Given the description of an element on the screen output the (x, y) to click on. 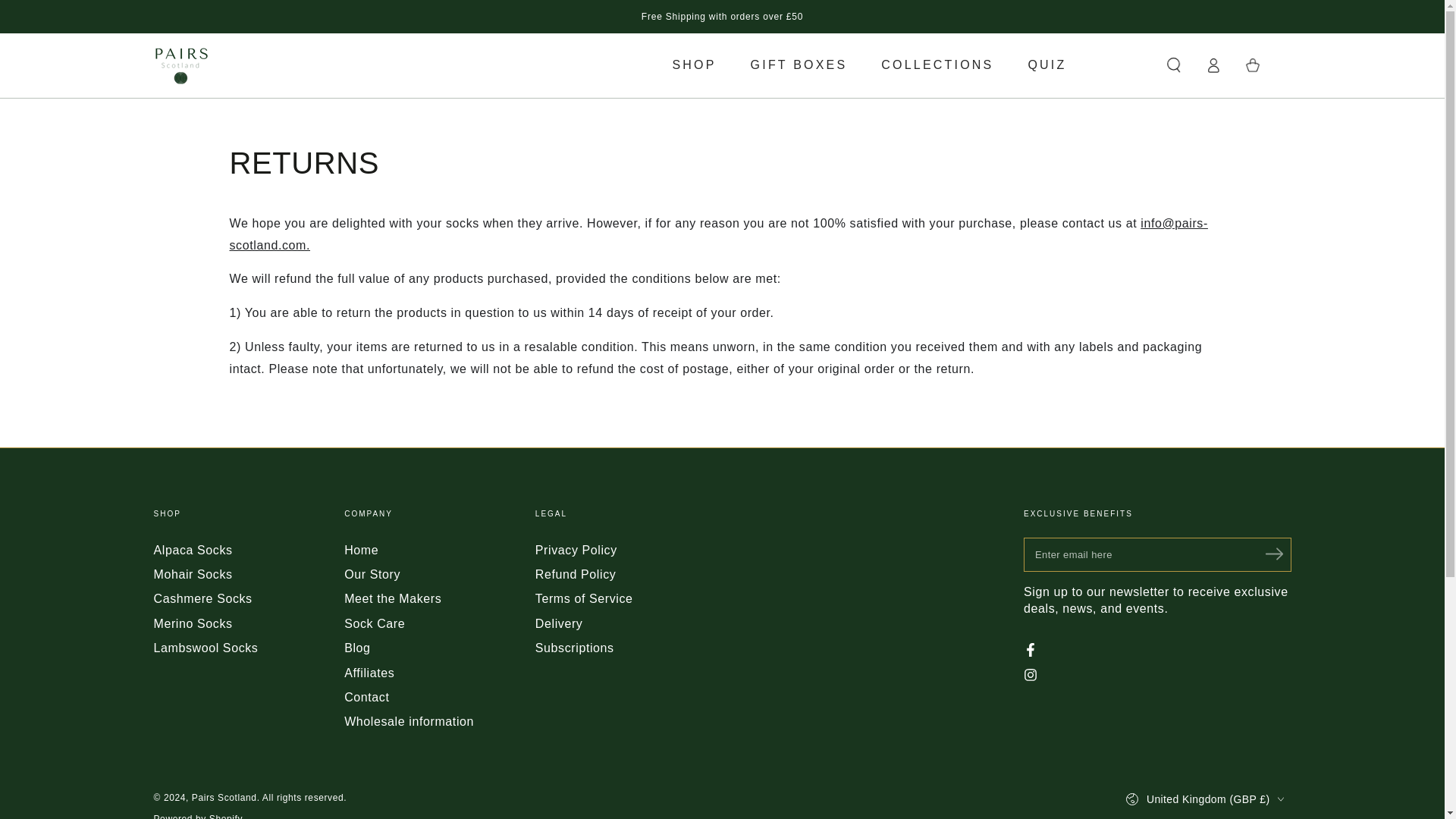
SKIP TO CONTENT (67, 14)
